Given the description of an element on the screen output the (x, y) to click on. 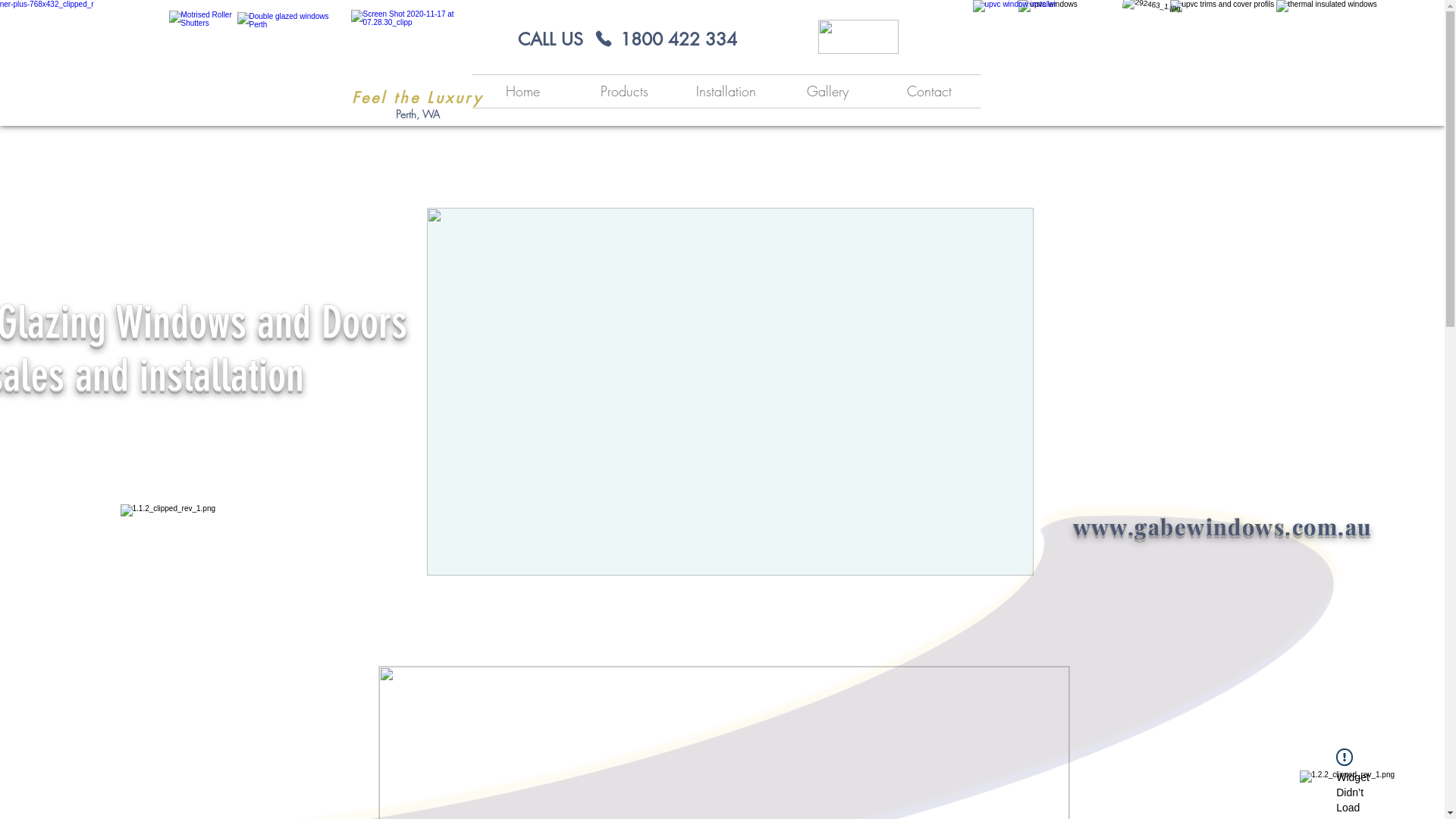
google Element type: hover (1014, 21)
www.gabewindows.com.au Element type: text (1222, 525)
Home Element type: text (522, 91)
Installation Element type: text (725, 91)
AGWA 2020 Member Logo WEB 155px.png Element type: hover (857, 36)
Products Element type: text (623, 91)
Contact Element type: text (928, 91)
uPVC windows and dors Element type: hover (288, 65)
aluminium roller shutters Element type: hover (209, 65)
Gallery Element type: text (827, 91)
